Given the description of an element on the screen output the (x, y) to click on. 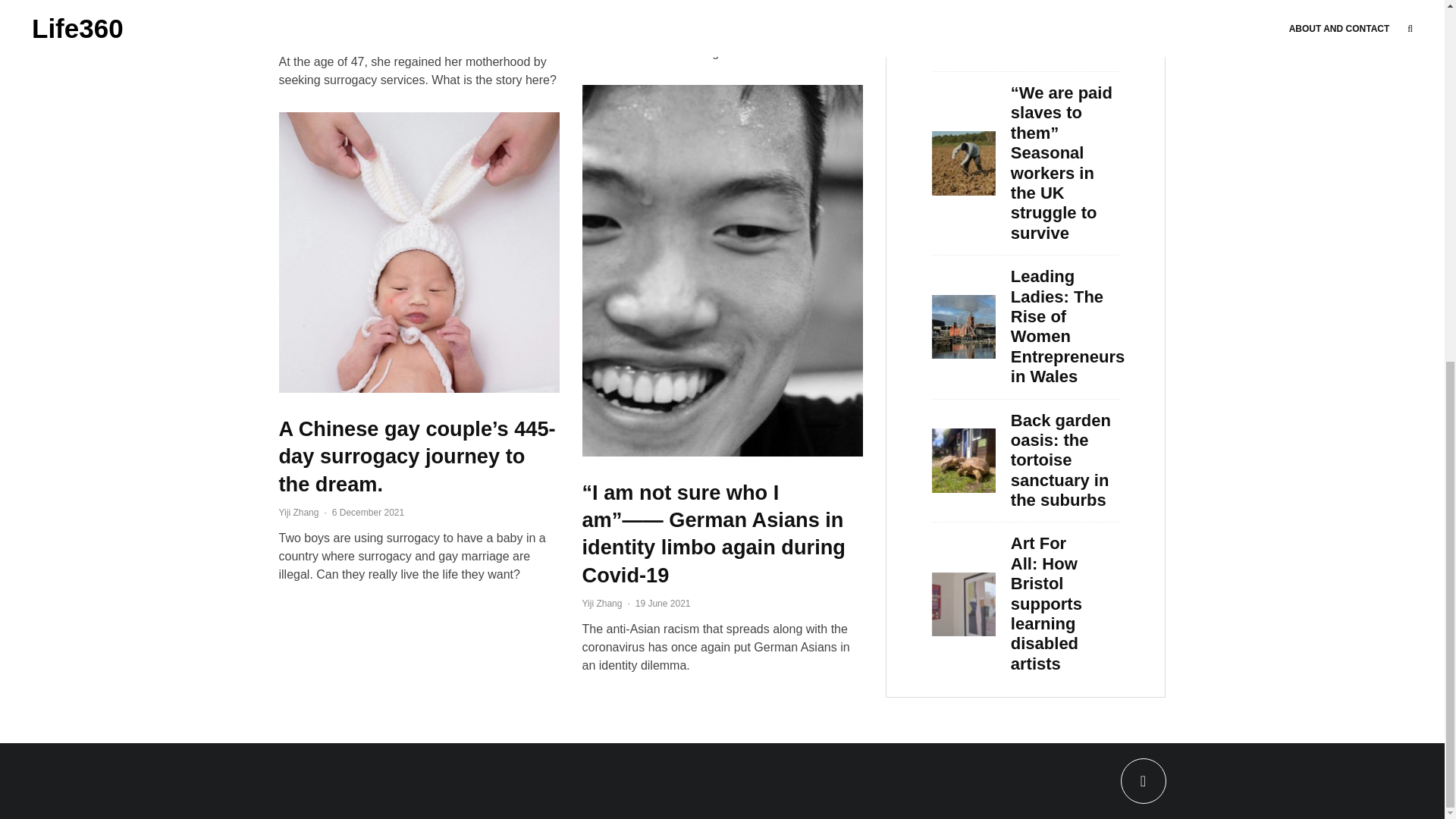
Back garden oasis: the tortoise sanctuary in the suburbs (1064, 429)
Leading Ladies: The Rise of Women Entrepreneurs in Wales (1067, 296)
Yiji Zhang (602, 603)
Yiji Zhang (602, 9)
Yiji Zhang (298, 36)
Yiji Zhang (298, 511)
